Given the description of an element on the screen output the (x, y) to click on. 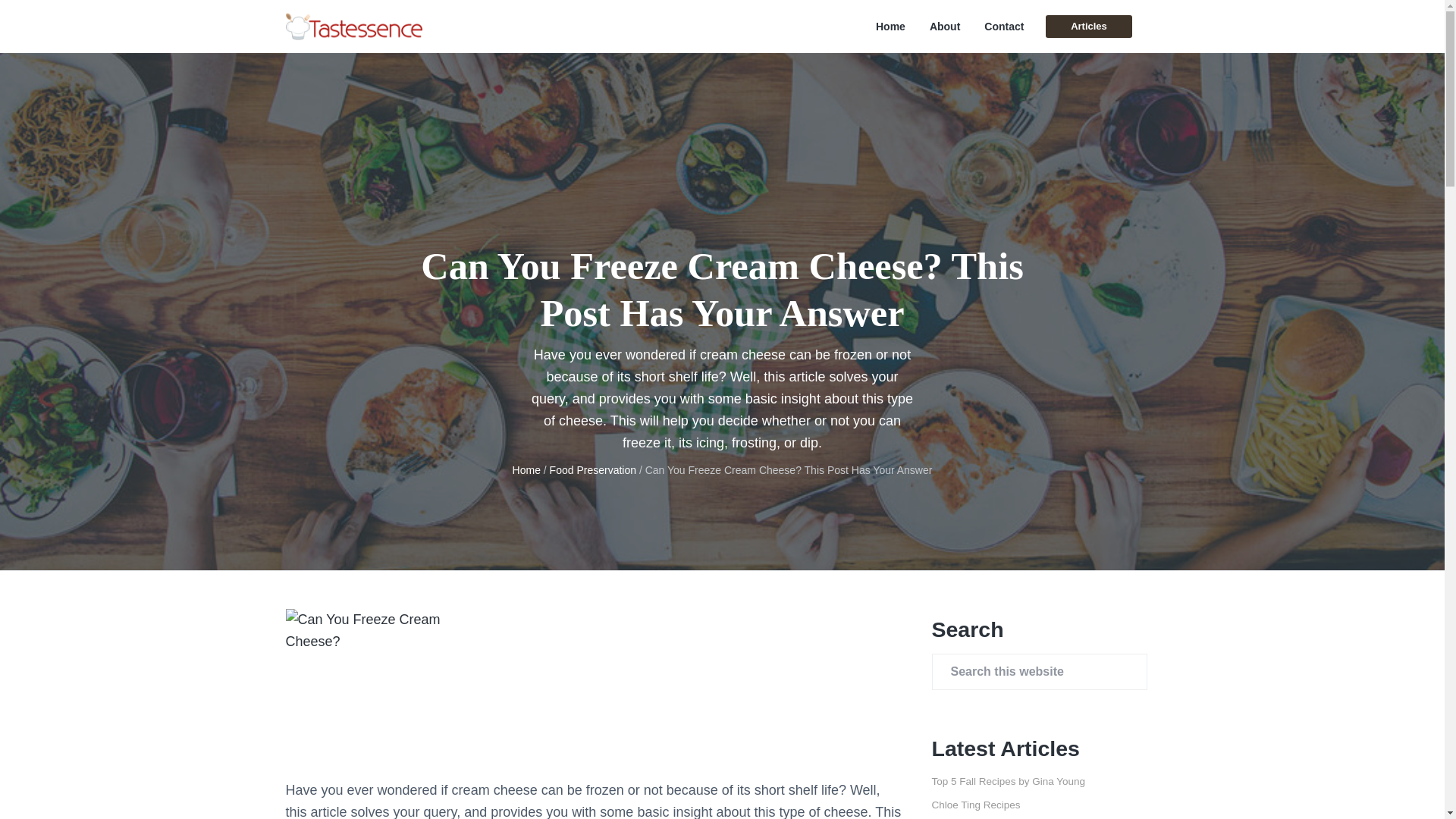
Contact (1003, 27)
Chloe Ting Recipes (975, 804)
Home (526, 469)
Articles (1087, 25)
Home (890, 27)
Top 5 Fall Recipes by Gina Young (1007, 781)
Search (60, 18)
Food Preservation (593, 469)
About (944, 27)
